Given the description of an element on the screen output the (x, y) to click on. 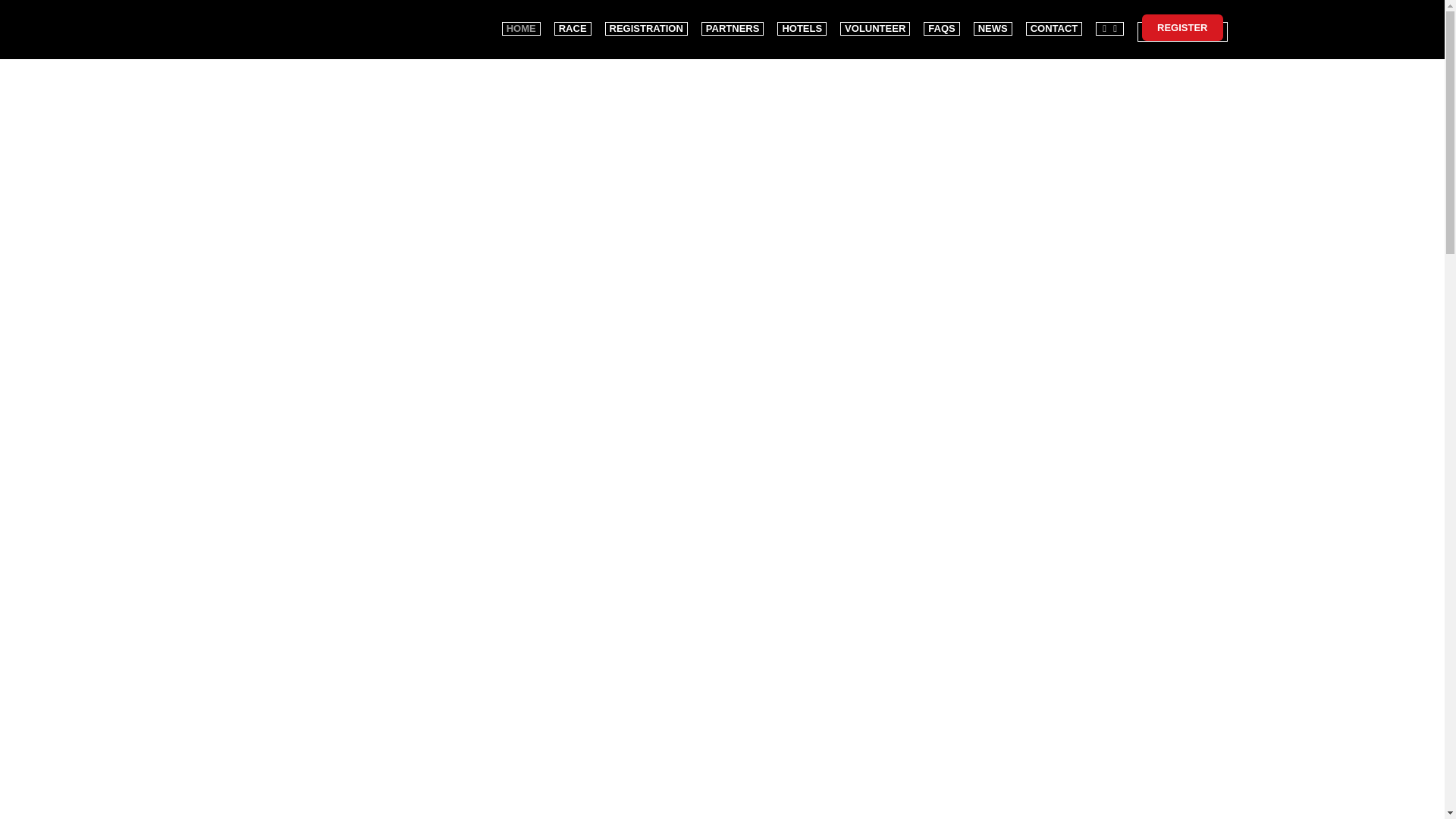
CONTACT (1054, 21)
PARTNERS (733, 21)
HOTELS (801, 21)
VOLUNTEER (874, 21)
REGISTRATION (646, 21)
Lifetime tri: (285, 28)
REGISTER (1182, 27)
